Given the description of an element on the screen output the (x, y) to click on. 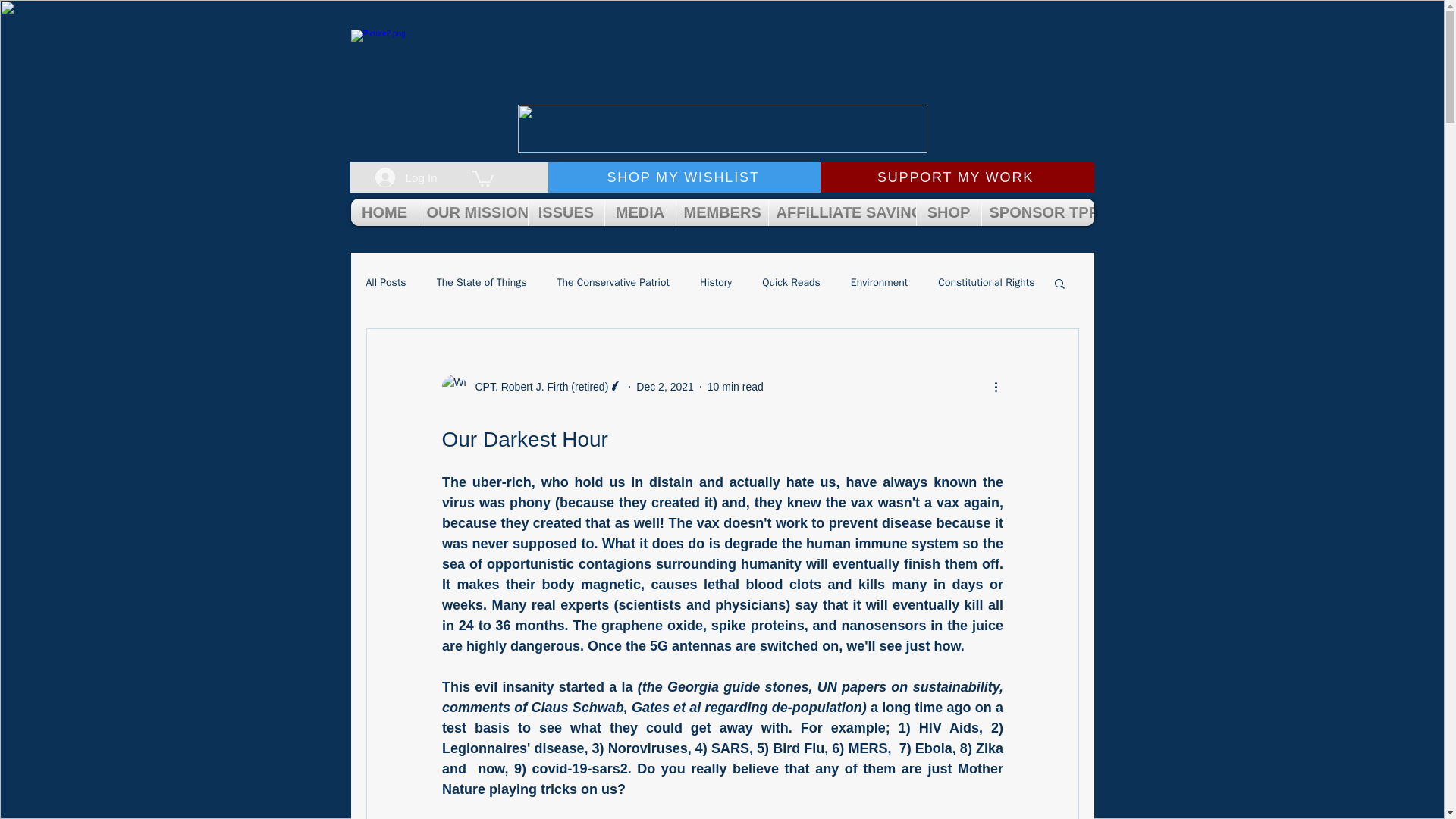
10 min read (734, 386)
Environment (878, 282)
History (716, 282)
HOME (383, 212)
The Conservative Patriot (612, 282)
logo.png (721, 73)
Dec 2, 2021 (665, 386)
Constitutional Rights (985, 282)
OUR MISSION (473, 212)
The State of Things (481, 282)
SHOP MY WISHLIST (684, 177)
All Posts (385, 282)
Log In (406, 176)
SUPPORT MY WORK (957, 177)
Picture4.png (721, 128)
